Given the description of an element on the screen output the (x, y) to click on. 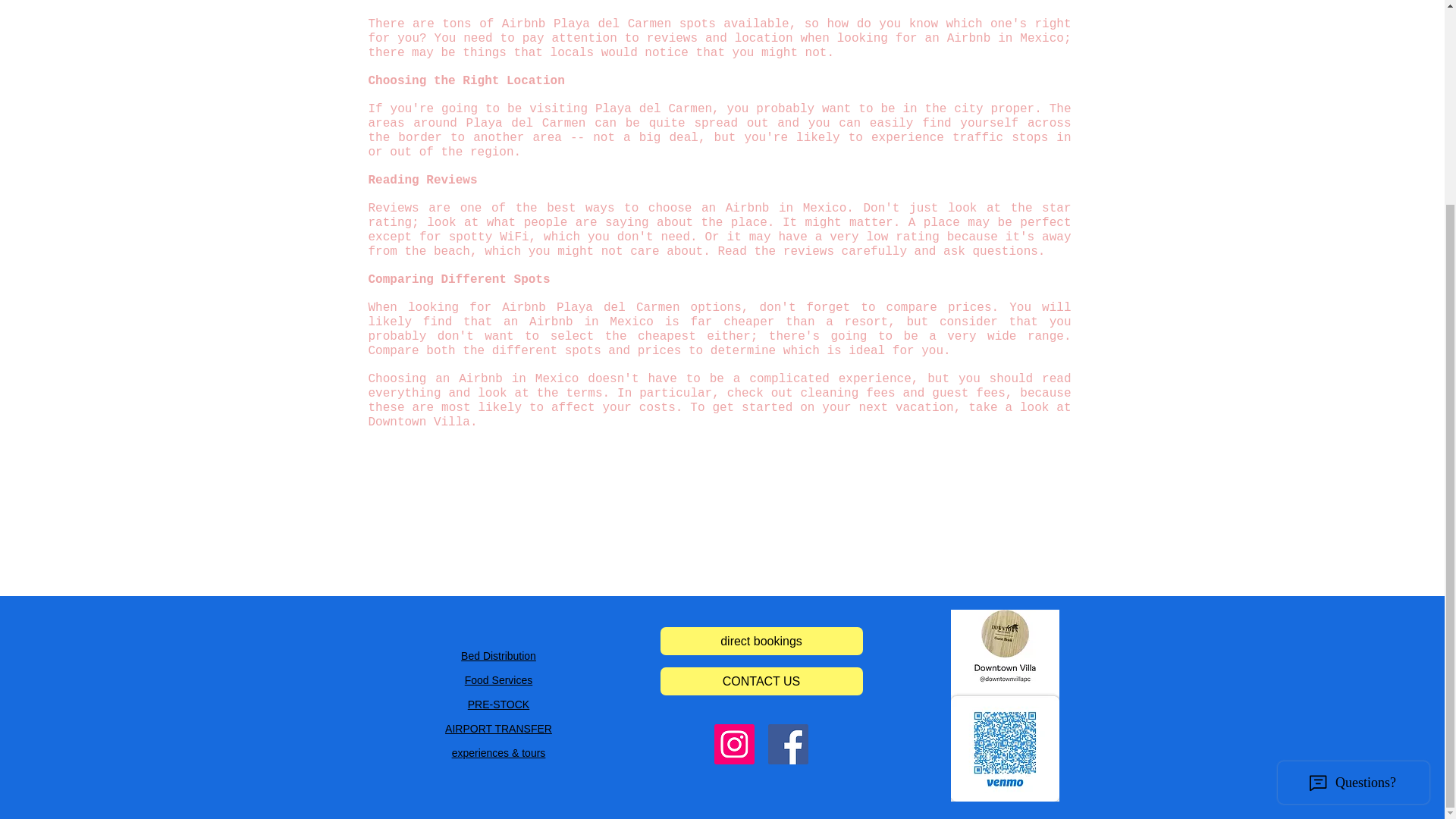
Bed Distribution (498, 655)
PRE-STOCK (498, 704)
direct bookings (760, 641)
AIRPORT TRANSFER (498, 728)
CONTACT US (760, 681)
Food Services (498, 680)
